Given the description of an element on the screen output the (x, y) to click on. 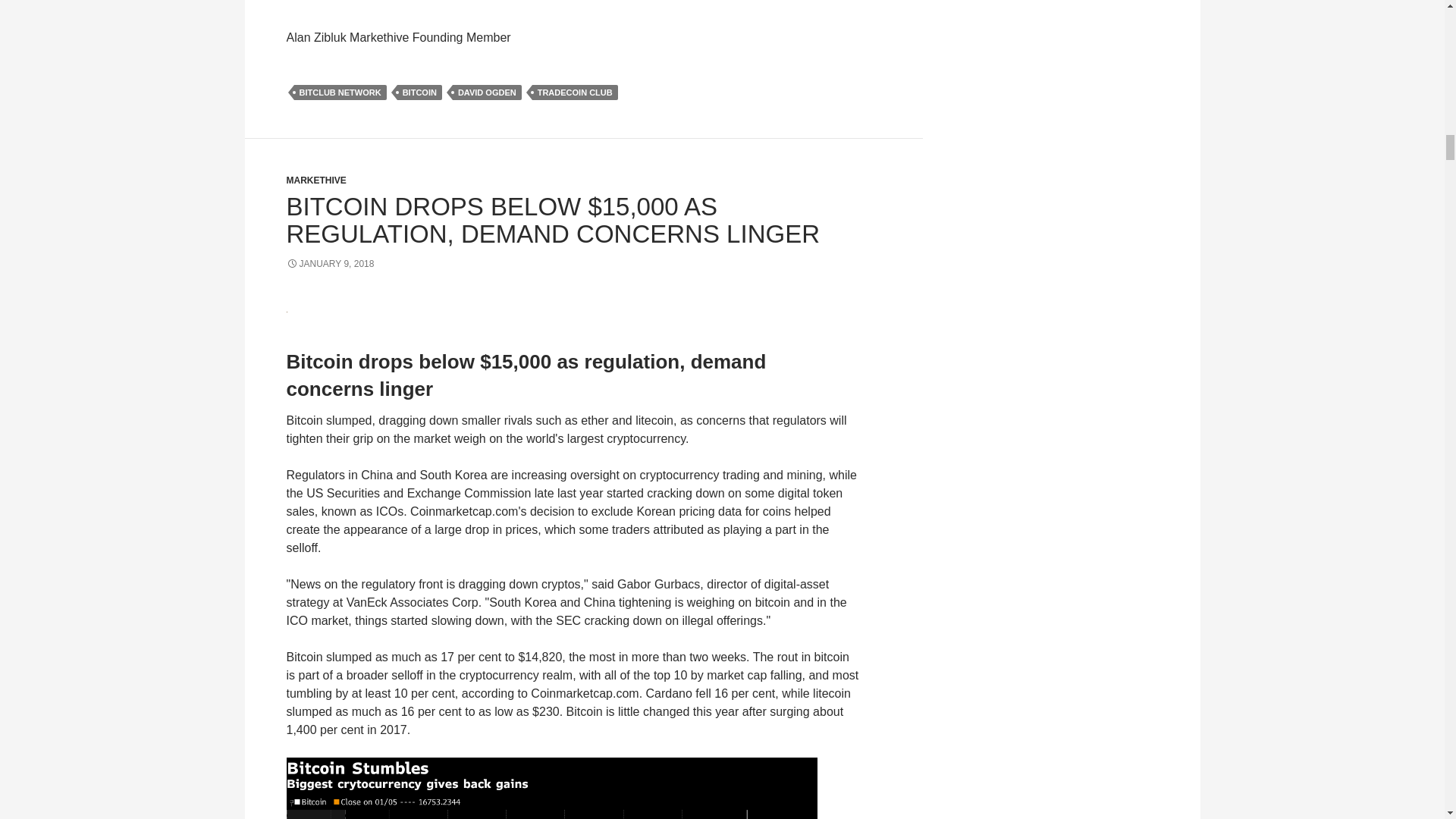
JANUARY 9, 2018 (330, 263)
MARKETHIVE (316, 180)
DAVID OGDEN (486, 92)
TRADECOIN CLUB (574, 92)
BITCLUB NETWORK (340, 92)
BITCOIN (419, 92)
